Given the description of an element on the screen output the (x, y) to click on. 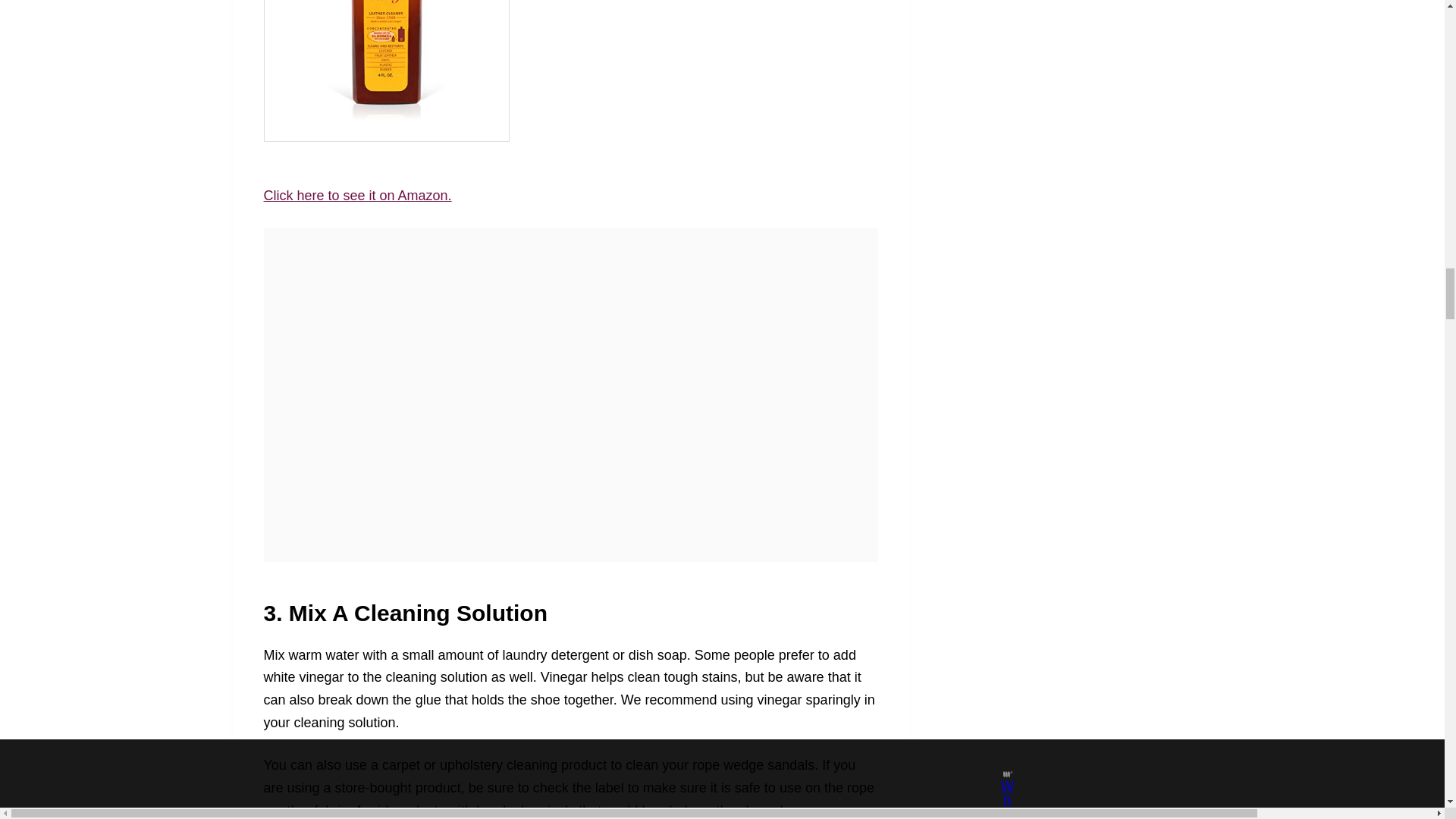
Click here to see it on Amazon. (357, 195)
